Given the description of an element on the screen output the (x, y) to click on. 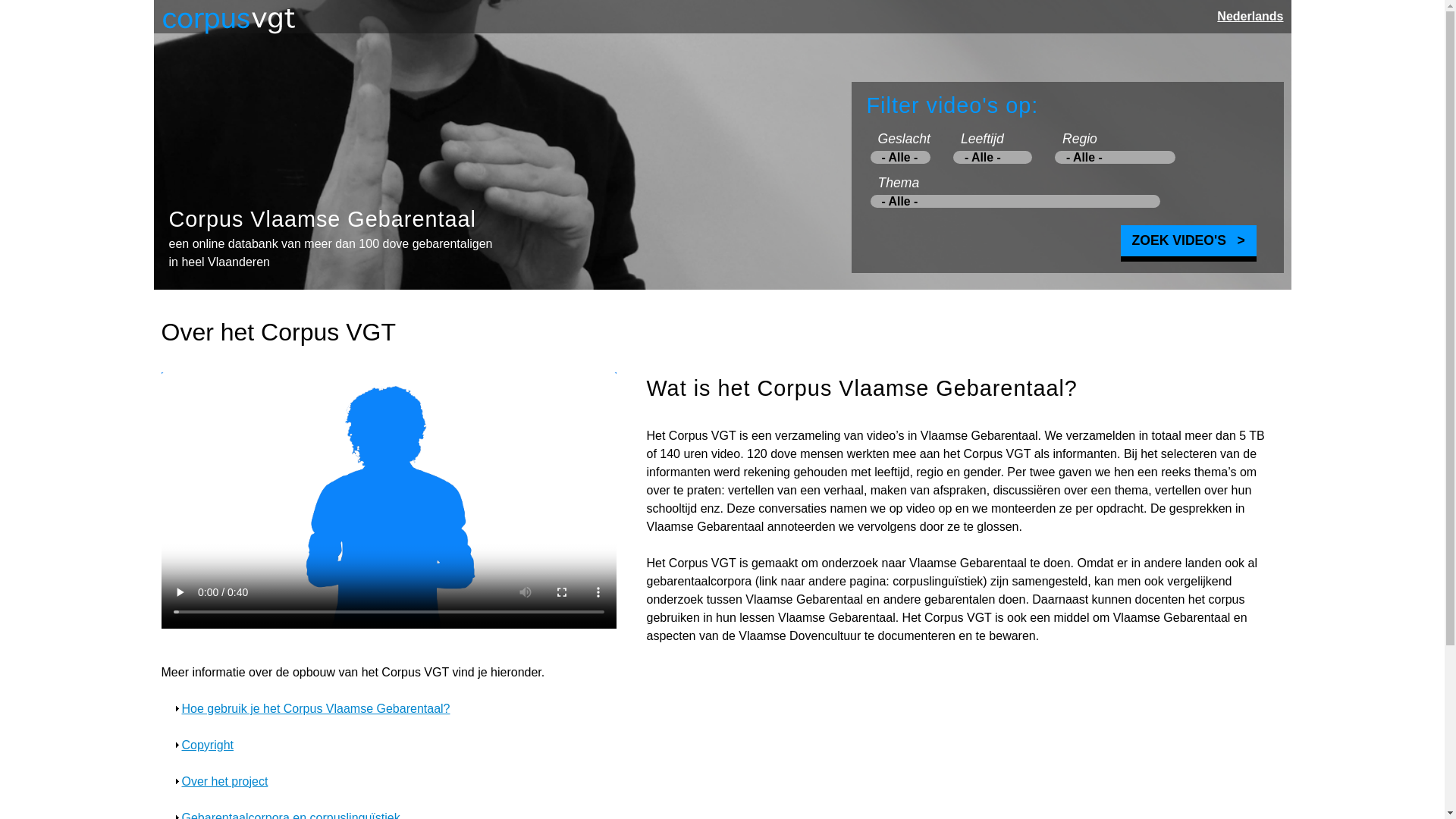
Show
Over het project Element type: text (225, 781)
Show
Copyright Element type: text (207, 744)
Nederlands Element type: text (1250, 15)
Jump to navigation Element type: text (722, 2)
Show
Hoe gebruik je het Corpus Vlaamse Gebarentaal? Element type: text (316, 708)
